Given the description of an element on the screen output the (x, y) to click on. 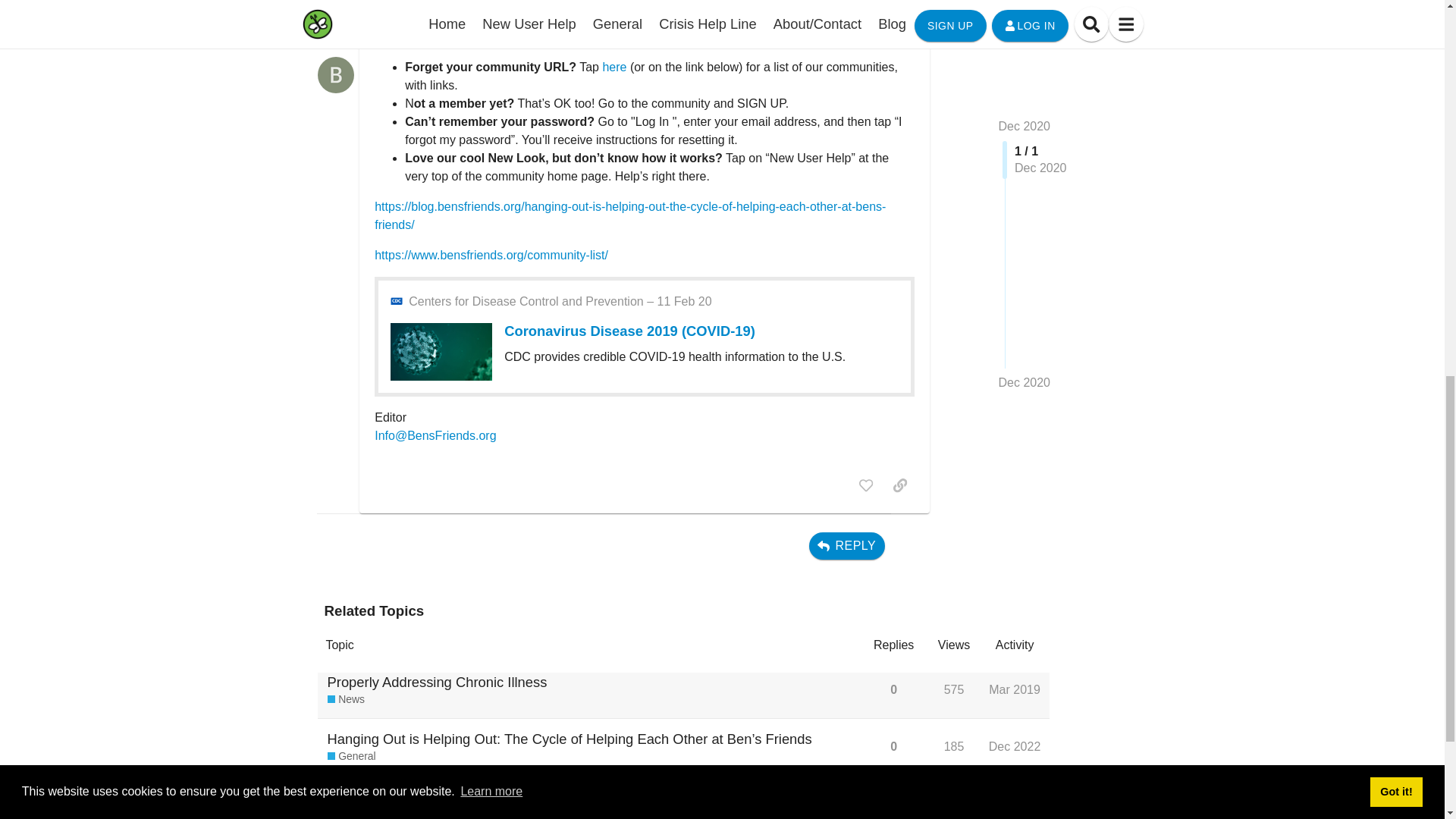
Properly Addressing Chronic Illness (437, 681)
here (614, 66)
News (346, 698)
like this post (865, 484)
this topic has been viewed 575 times (953, 689)
copy a link to this post to clipboard (899, 484)
12:00AM - 11 February 2020 (560, 301)
REPLY (847, 545)
News from Bens Friends (346, 698)
